Given the description of an element on the screen output the (x, y) to click on. 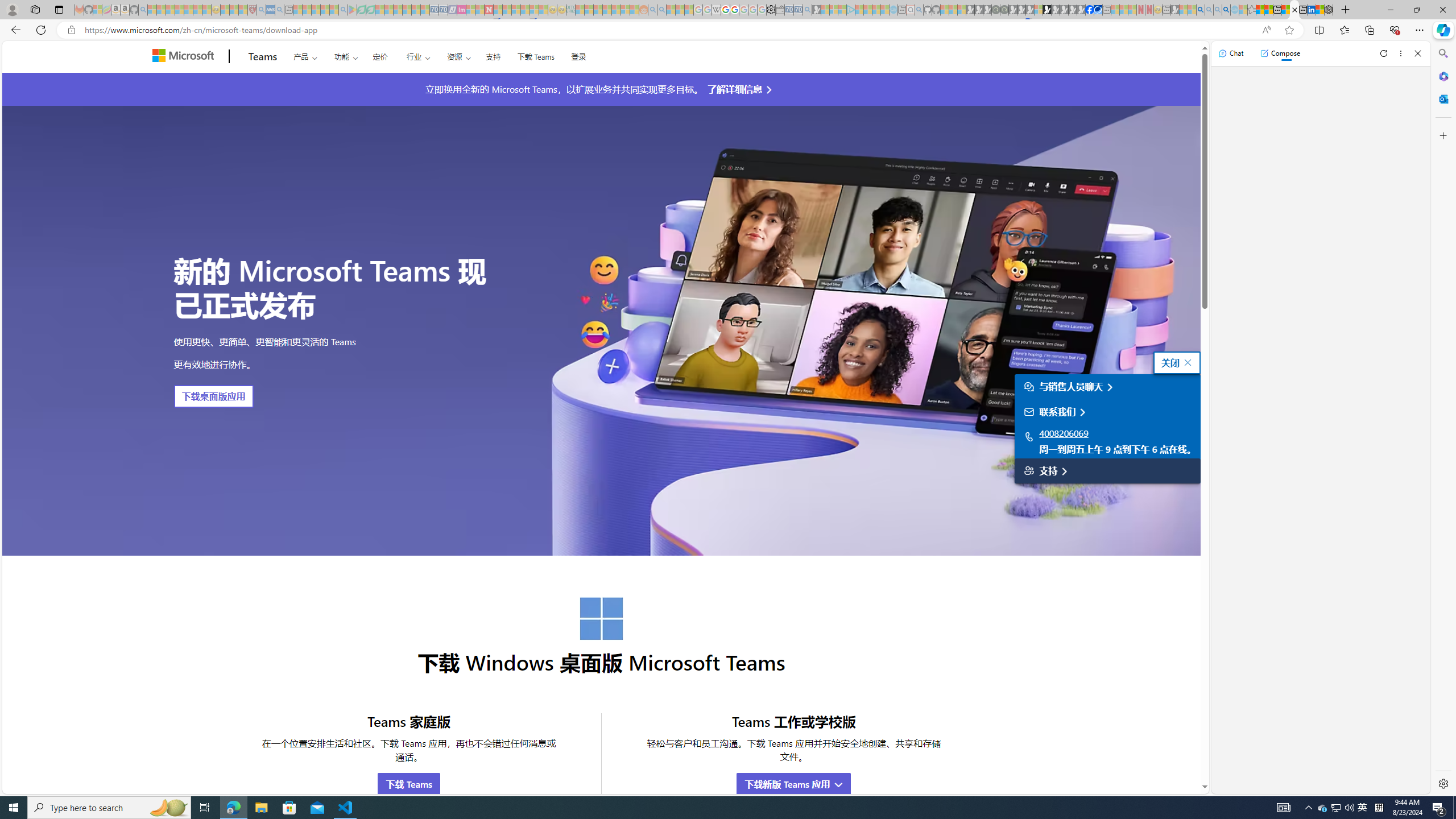
Sign in to your account - Sleeping (1038, 9)
Google Chrome Internet Browser Download - Search Images (1225, 9)
